Given the description of an element on the screen output the (x, y) to click on. 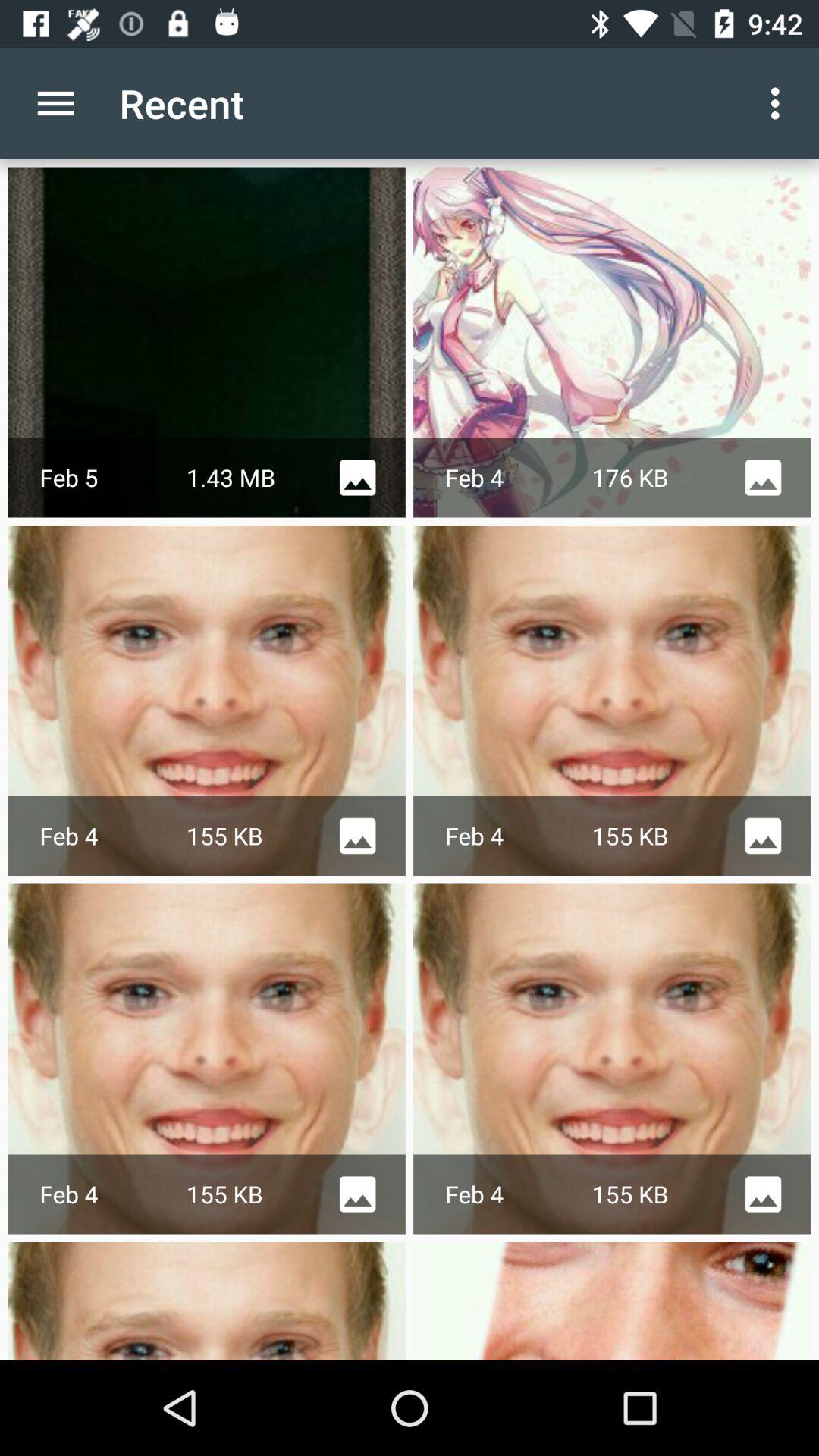
launch the icon next to recent item (55, 103)
